Given the description of an element on the screen output the (x, y) to click on. 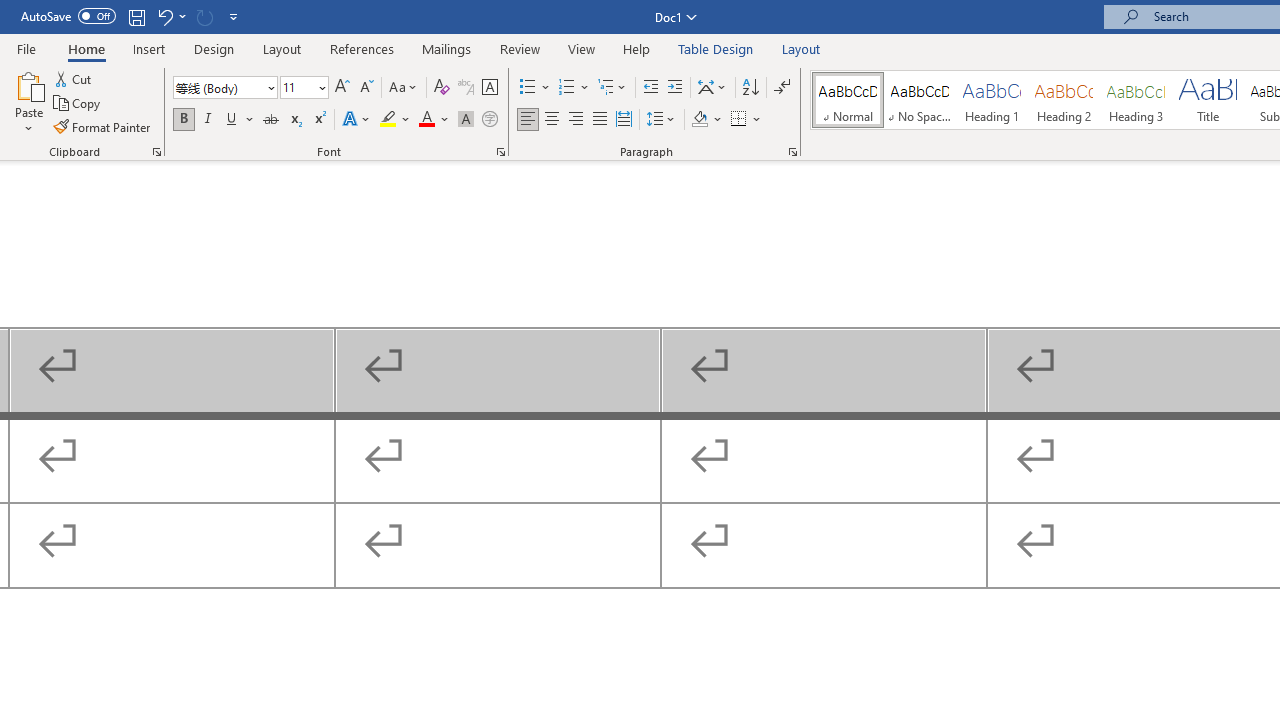
Can't Repeat (204, 15)
Heading 1 (991, 100)
